Given the description of an element on the screen output the (x, y) to click on. 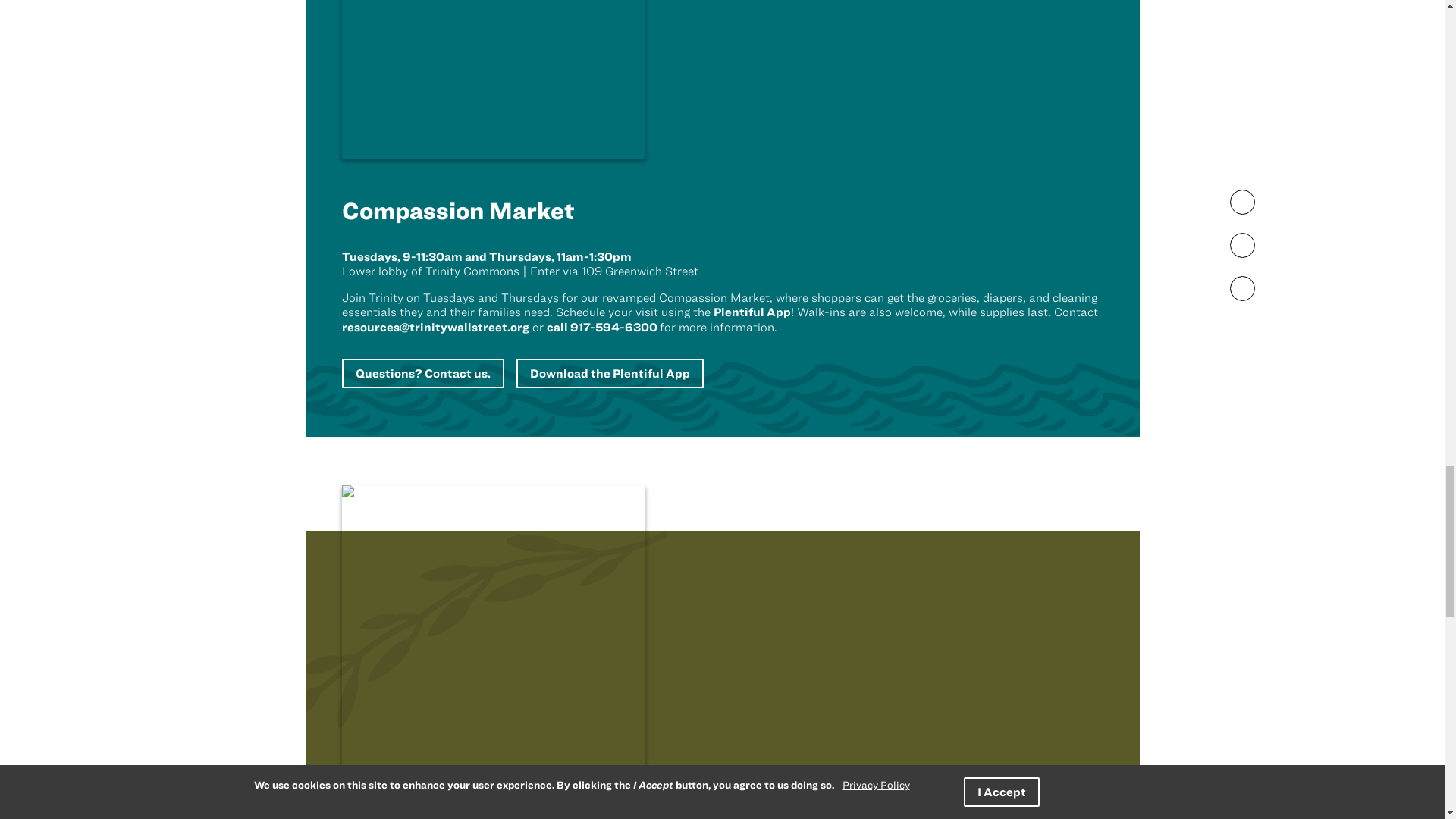
Questions? Contact us. (421, 373)
Plentiful App (751, 311)
Download the Plentiful App (609, 373)
